Given the description of an element on the screen output the (x, y) to click on. 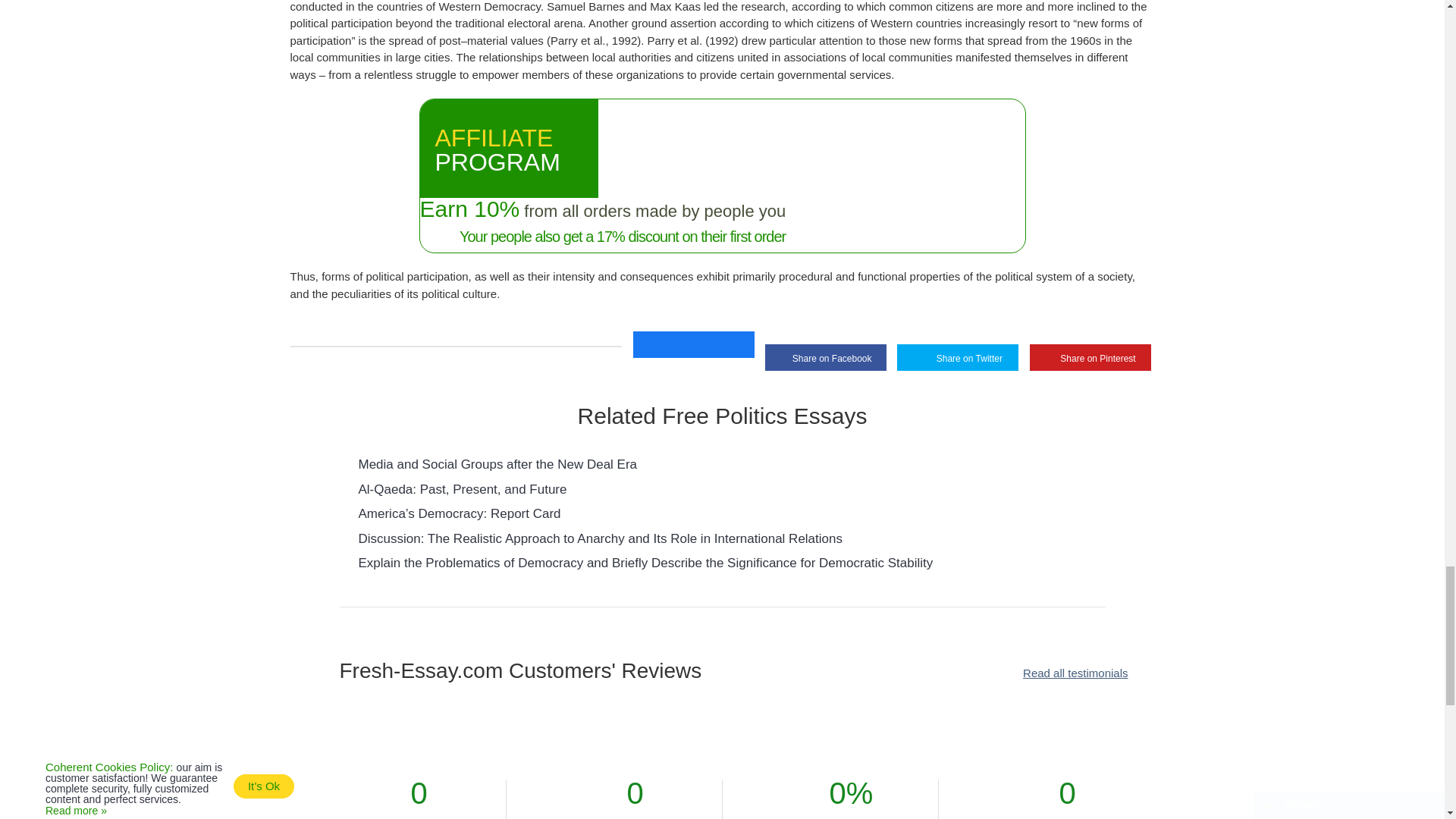
Al-Qaeda: Past, Present, and Future (462, 489)
Share on Facebook (825, 357)
Al-Qaeda: Past, Present, and Future (462, 489)
Read all testimonials (1074, 672)
Share on Twitter (956, 357)
Media and Social Groups after the New Deal Era (497, 464)
Media and Social Groups after the New Deal Era (497, 464)
Share on Pinterest (1090, 357)
